Given the description of an element on the screen output the (x, y) to click on. 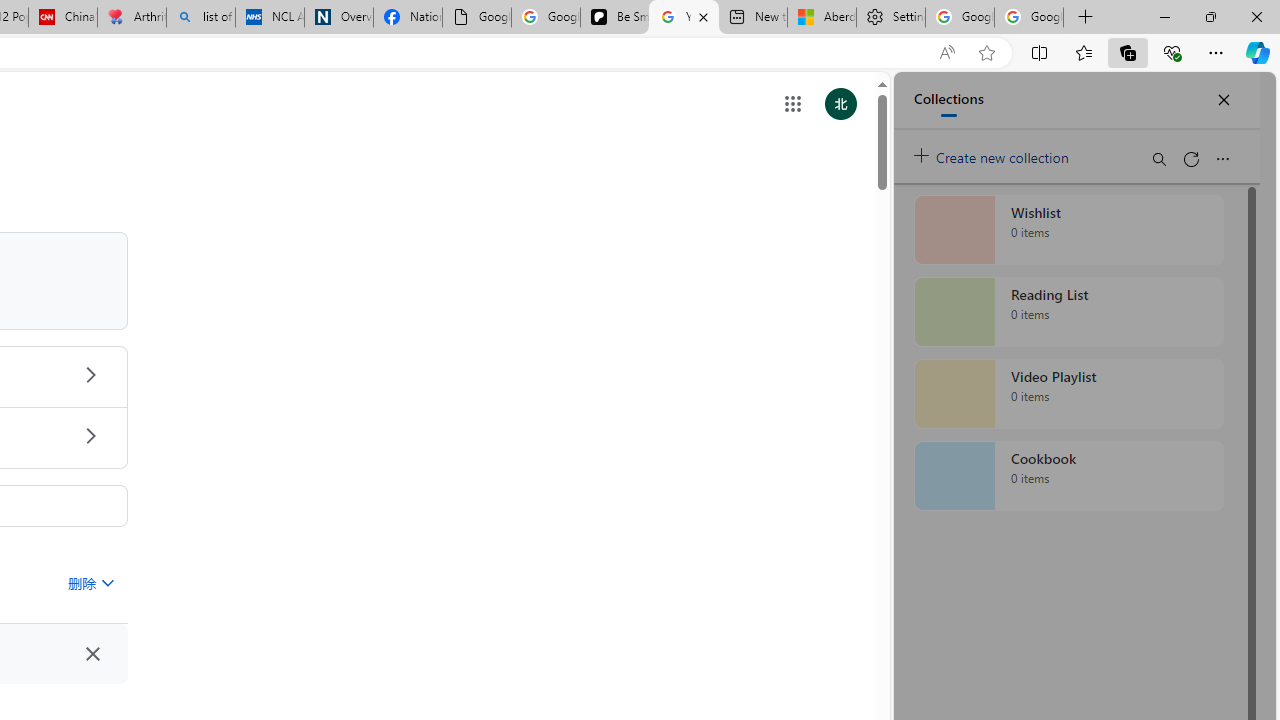
Be Smart | creating Science videos | Patreon (614, 17)
Aberdeen, Hong Kong SAR hourly forecast | Microsoft Weather (822, 17)
Class: gb_E (792, 103)
Class: DI7Mnf NMm5M (91, 654)
